Given the description of an element on the screen output the (x, y) to click on. 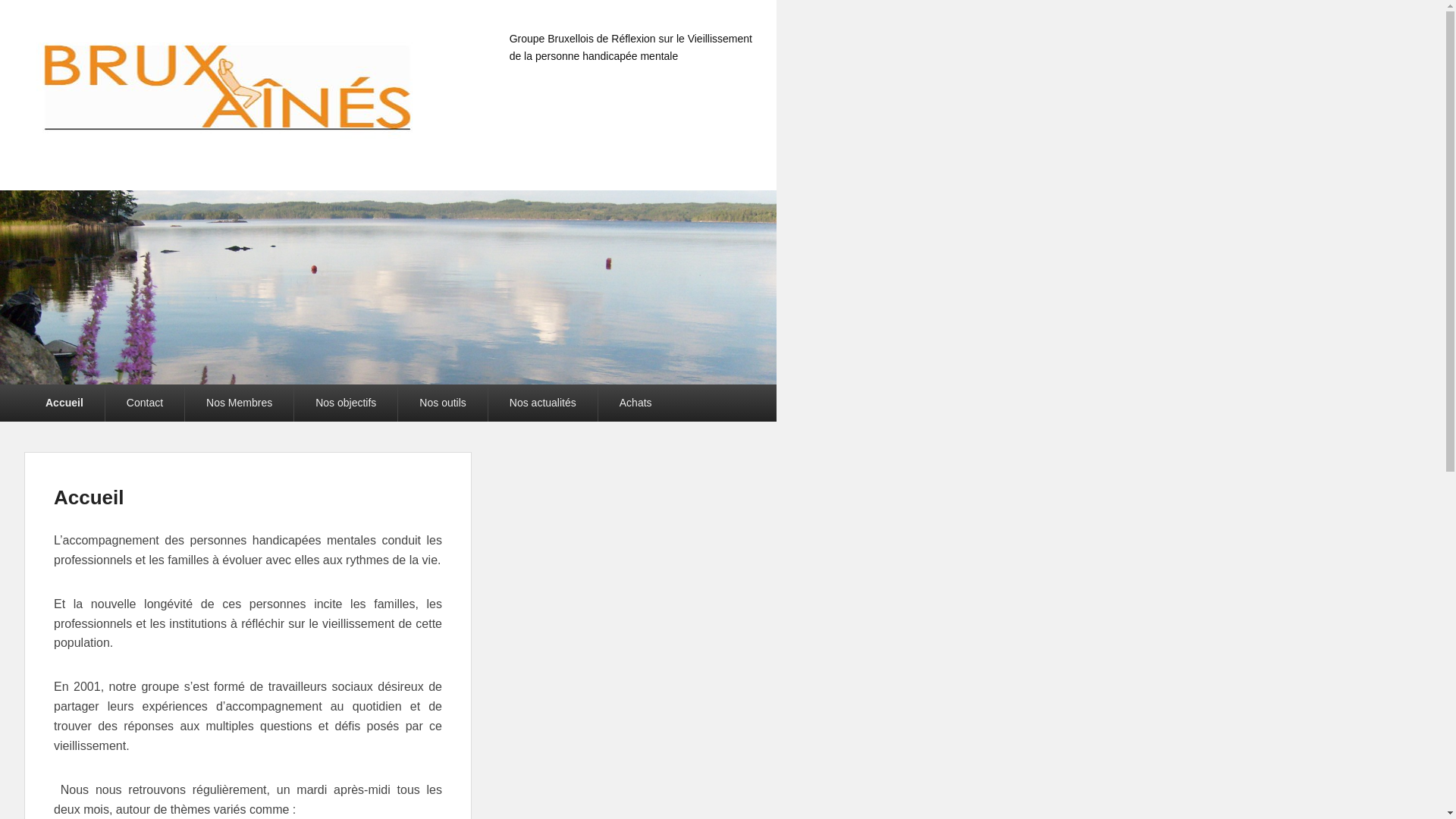
Achats Element type: text (635, 402)
Accueil Element type: text (88, 497)
Nos outils Element type: text (442, 402)
Nos Membres Element type: text (239, 402)
Contact Element type: text (144, 402)
Accueil Element type: text (64, 402)
Nos objectifs Element type: text (345, 402)
